Given the description of an element on the screen output the (x, y) to click on. 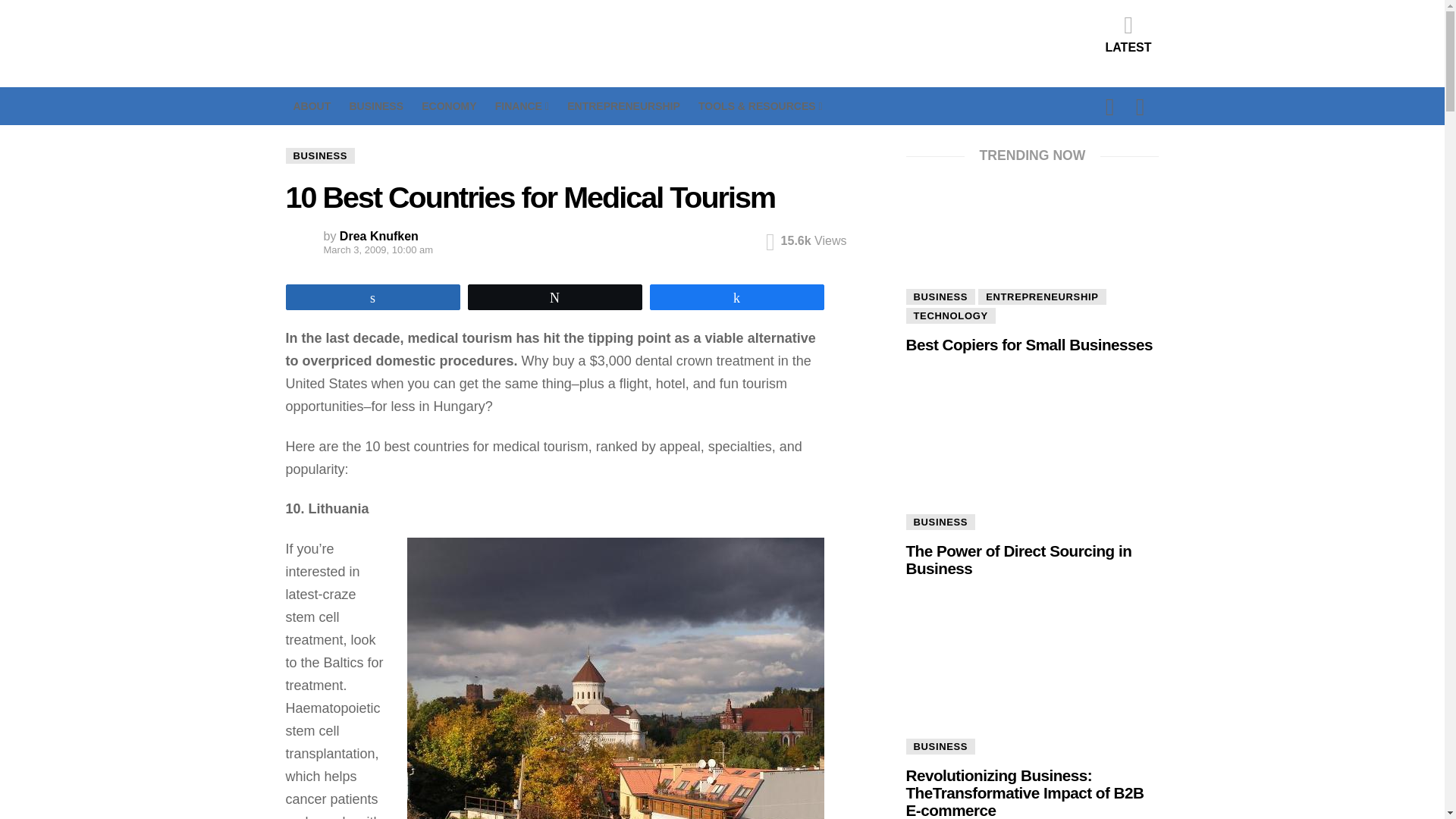
FINANCE (521, 105)
zzlithuania (615, 678)
Search (1027, 196)
ENTREPRENEURSHIP (623, 105)
ECONOMY (449, 105)
Drea Knufken (379, 236)
March 3, 2009, 10:00 am (355, 250)
LATEST (1127, 32)
BUSINESS (376, 105)
ABOUT (311, 105)
